Given the description of an element on the screen output the (x, y) to click on. 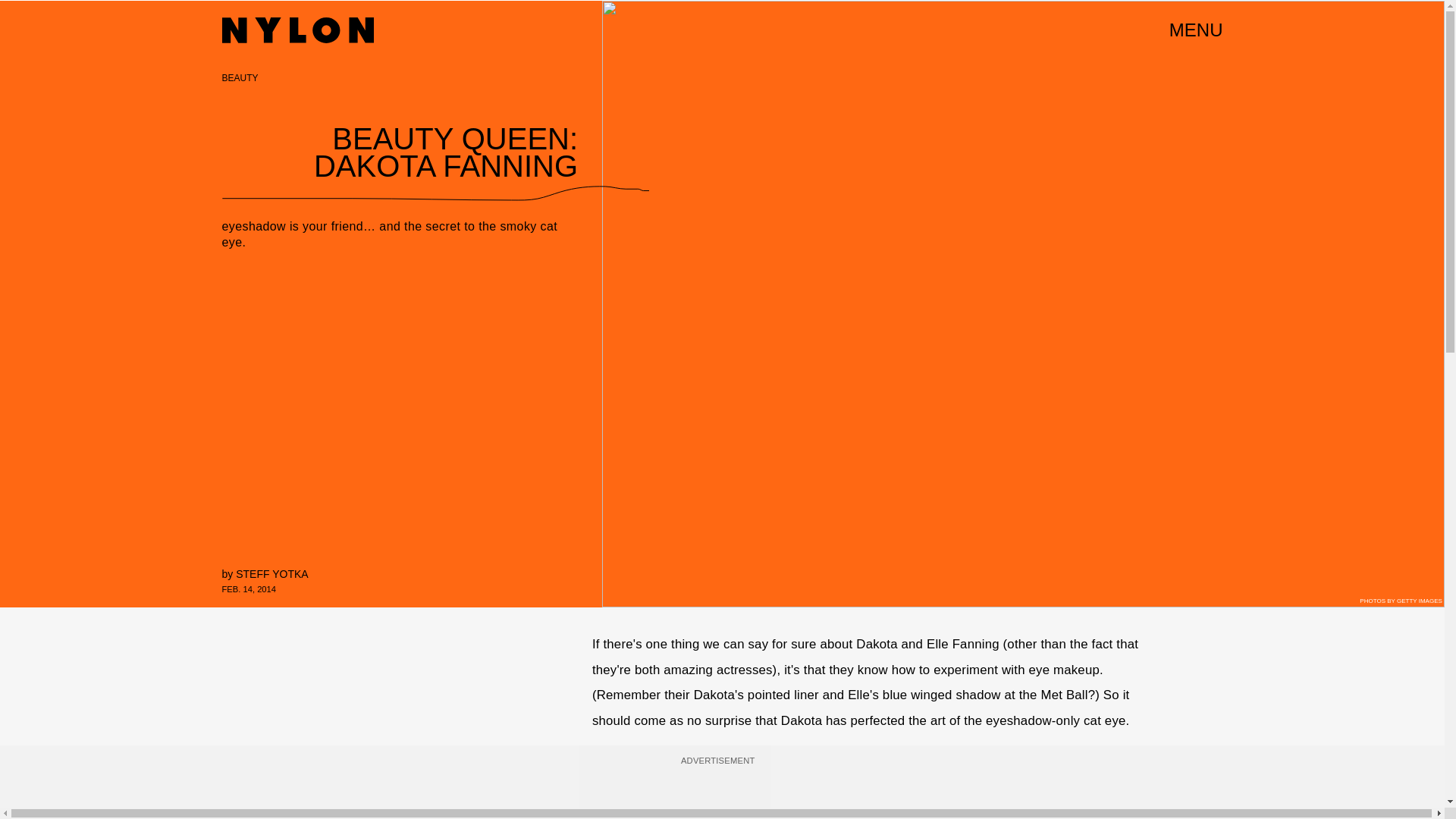
Nylon (296, 30)
